Given the description of an element on the screen output the (x, y) to click on. 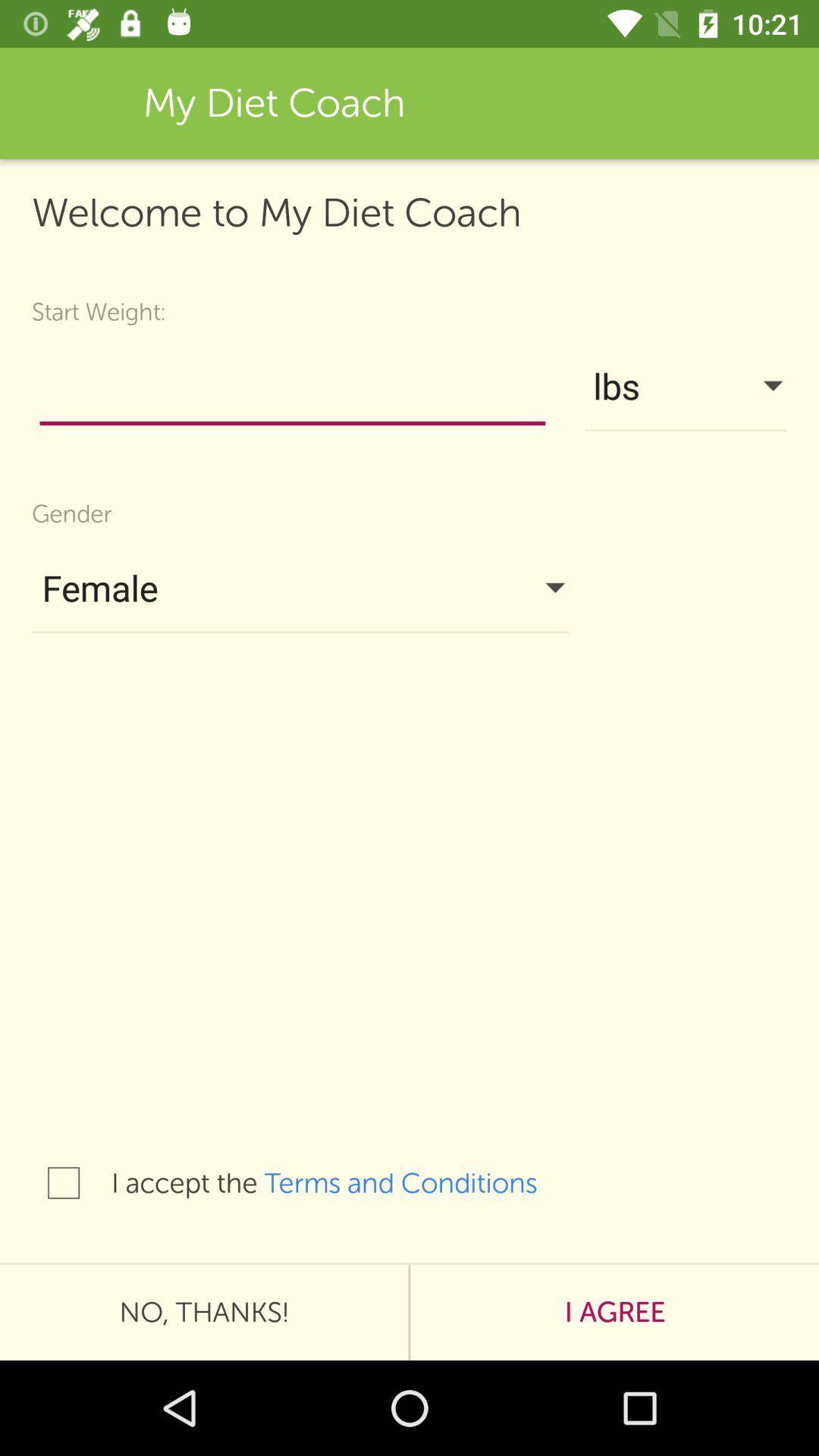
launch i agree item (614, 1312)
